Given the description of an element on the screen output the (x, y) to click on. 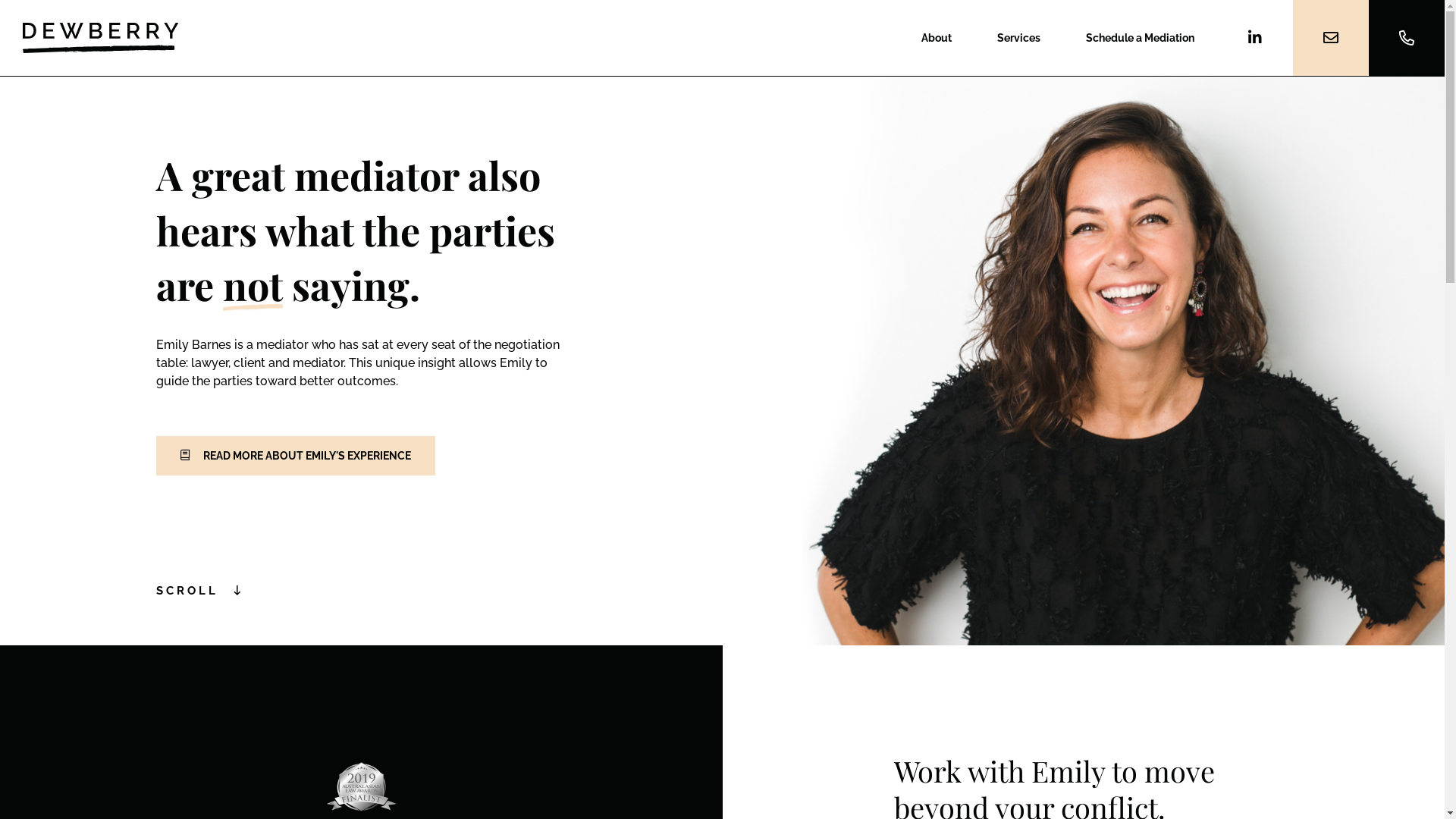
Services Element type: text (1018, 37)
SCROLL Element type: text (199, 590)
Schedule a Mediation Element type: text (1139, 37)
READ MORE ABOUT EMILY'S EXPERIENCE Element type: text (295, 455)
About Element type: text (936, 37)
